Given the description of an element on the screen output the (x, y) to click on. 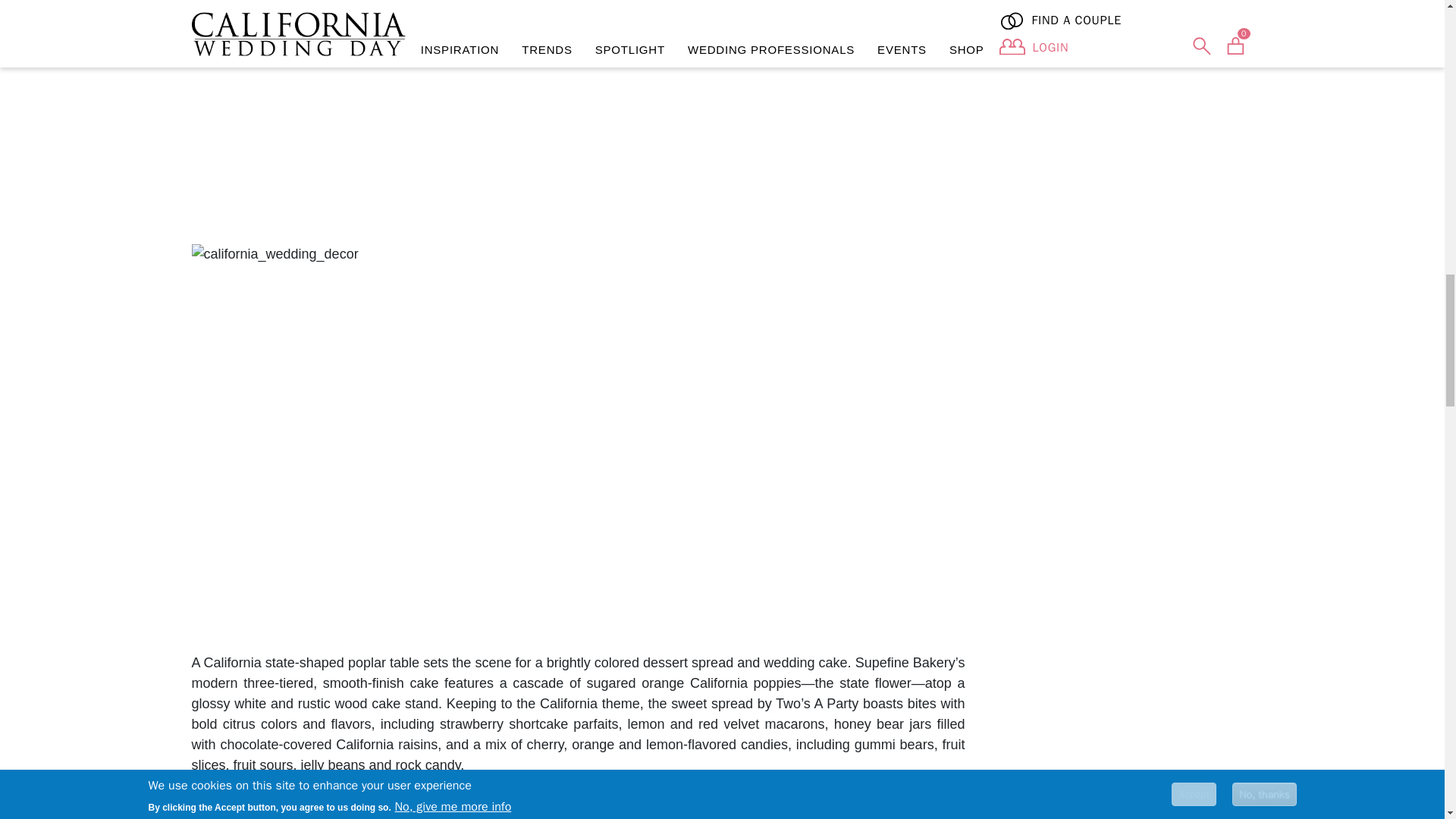
Found Vintage Rentals (798, 807)
Superfine Bakery (283, 807)
